Given the description of an element on the screen output the (x, y) to click on. 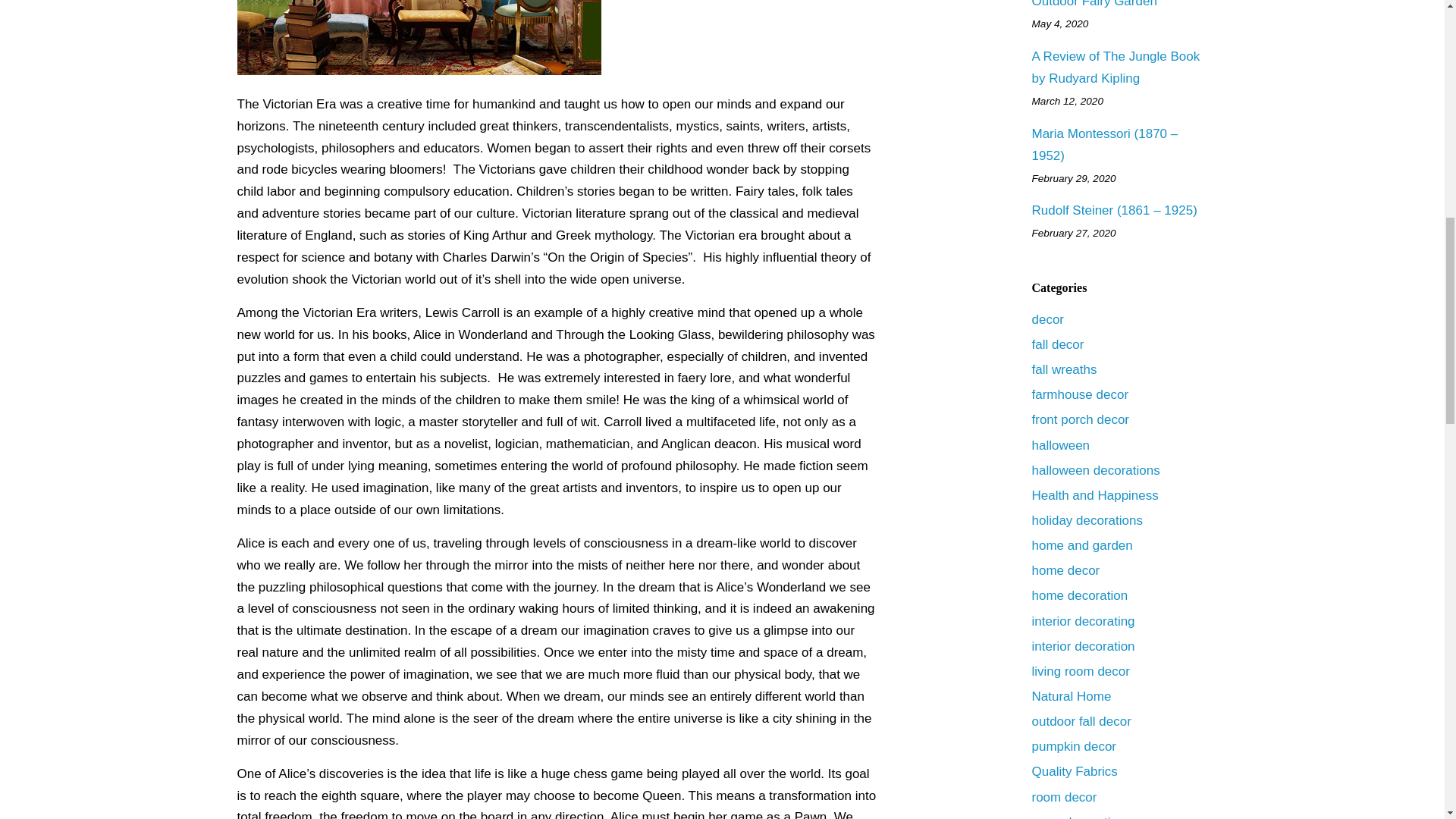
Show articles tagged home and garden (1081, 545)
Show articles tagged home decor (1064, 570)
Show articles tagged decor (1047, 319)
Show articles tagged fall decor (1056, 344)
Show articles tagged Health and Happiness (1093, 495)
Show articles tagged home decoration (1078, 595)
Show articles tagged interior decorating (1082, 621)
Show articles tagged fall wreaths (1063, 369)
Show articles tagged halloween (1059, 445)
Show articles tagged interior decoration (1082, 646)
Show articles tagged front porch decor (1079, 419)
Show articles tagged farmhouse decor (1079, 394)
Show articles tagged halloween decorations (1094, 470)
Show articles tagged holiday decorations (1085, 520)
